Given the description of an element on the screen output the (x, y) to click on. 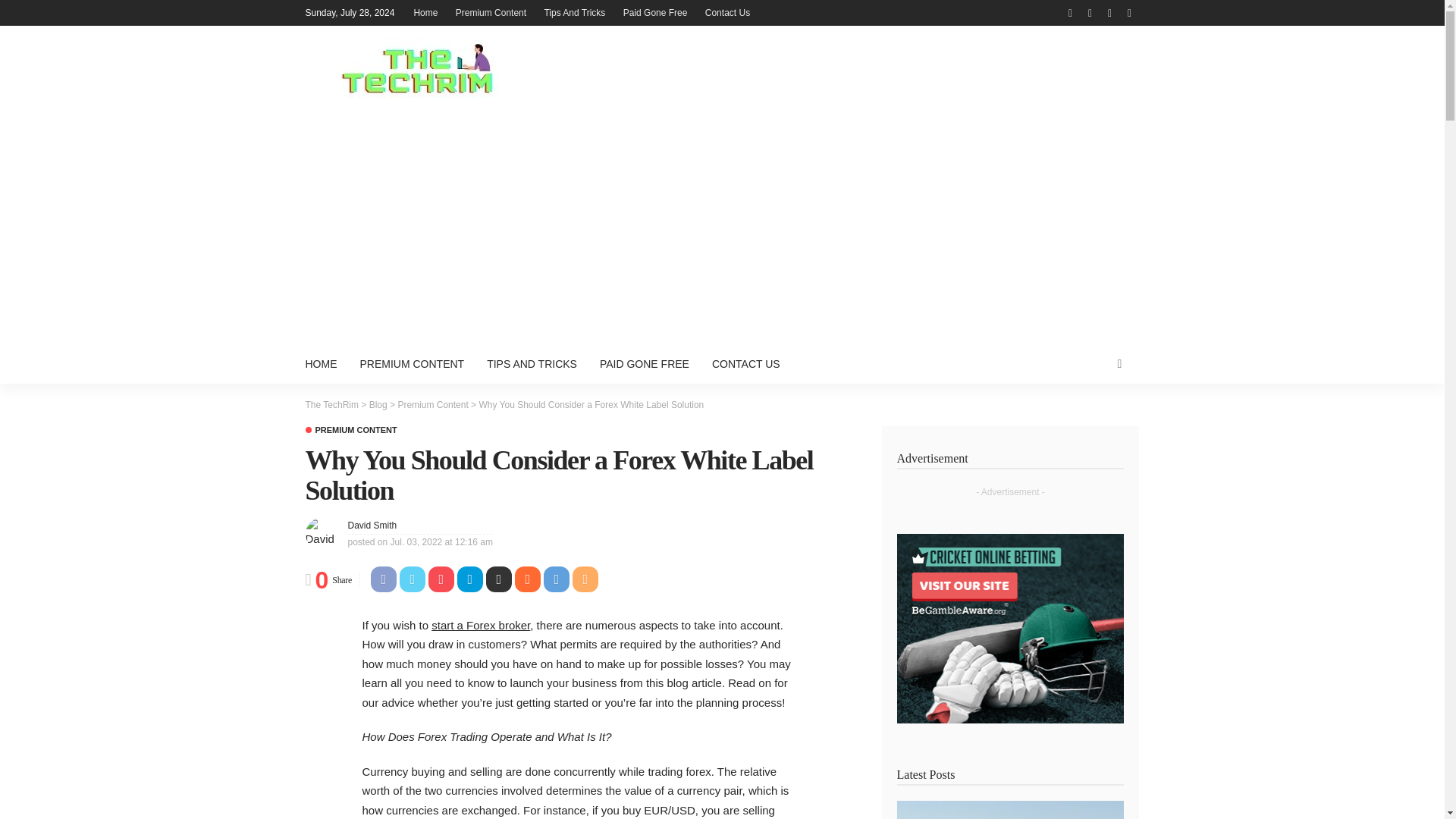
Premium Content (491, 12)
search (1118, 363)
Home (425, 12)
Blog (378, 404)
HOME (325, 363)
Paid Gone Free (655, 12)
Go to The TechRim. (331, 404)
Go to Blog. (378, 404)
Tips And Tricks (573, 12)
PREMIUM CONTENT (412, 363)
PAID GONE FREE (644, 363)
PREMIUM CONTENT (350, 429)
Contact Us (727, 12)
The TechRim (331, 404)
TIPS AND TRICKS (532, 363)
